Given the description of an element on the screen output the (x, y) to click on. 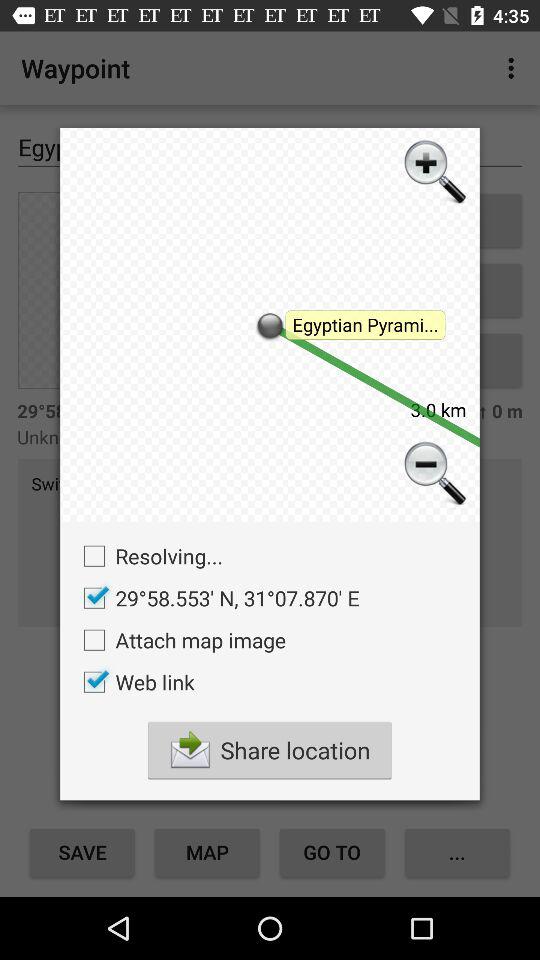
launch the icon above the 29 58 553 checkbox (148, 556)
